Given the description of an element on the screen output the (x, y) to click on. 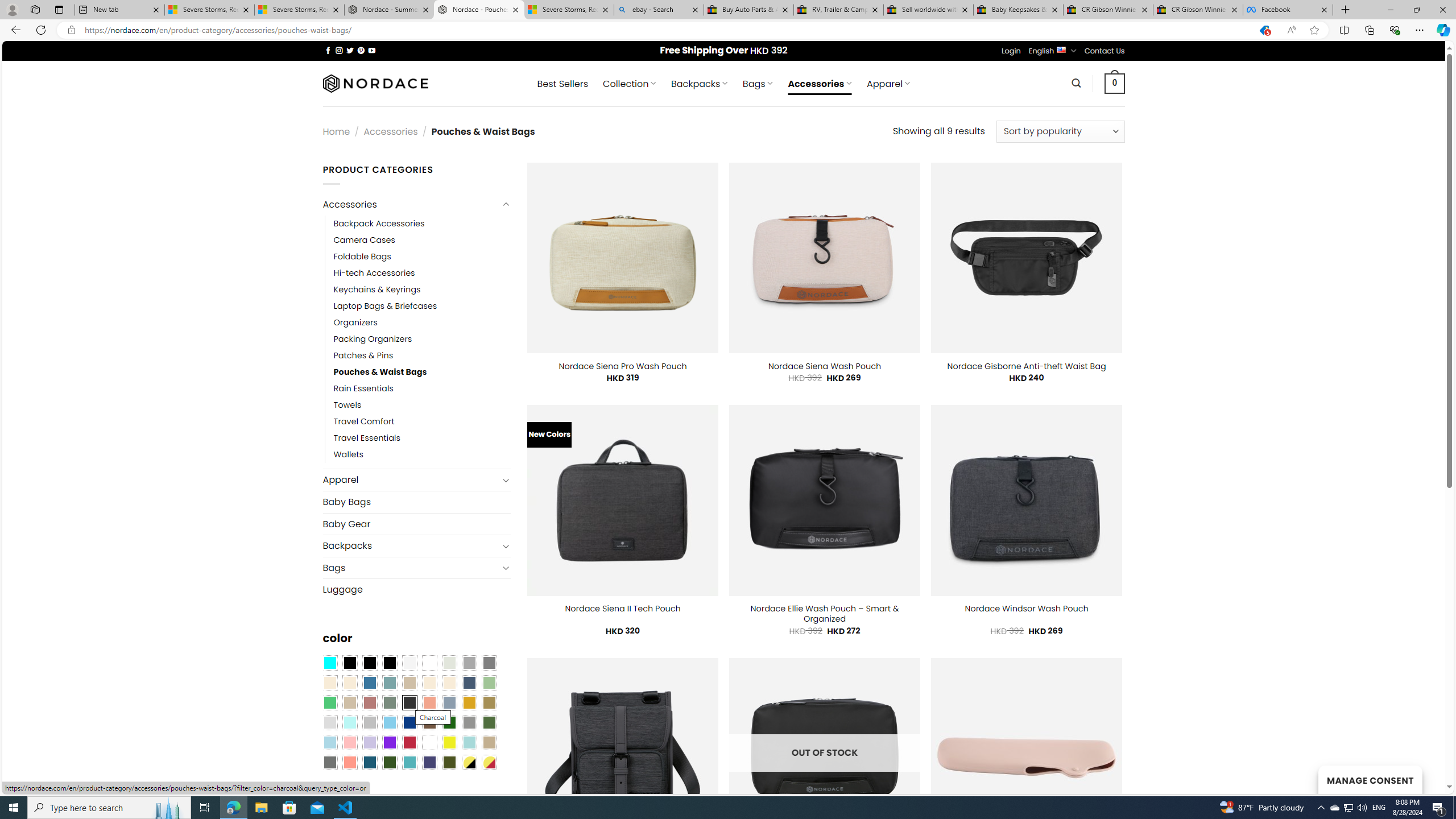
Mint (349, 721)
Black-Brown (389, 662)
Towels (422, 405)
Capri Blue (369, 762)
Rose (369, 702)
Organizers (422, 321)
Blue Sage (389, 681)
Follow on Twitter (349, 49)
Packing Organizers (422, 339)
Nordace Windsor Wash Pouch (1026, 608)
Peach Pink (349, 762)
Baby Gear (416, 523)
